Given the description of an element on the screen output the (x, y) to click on. 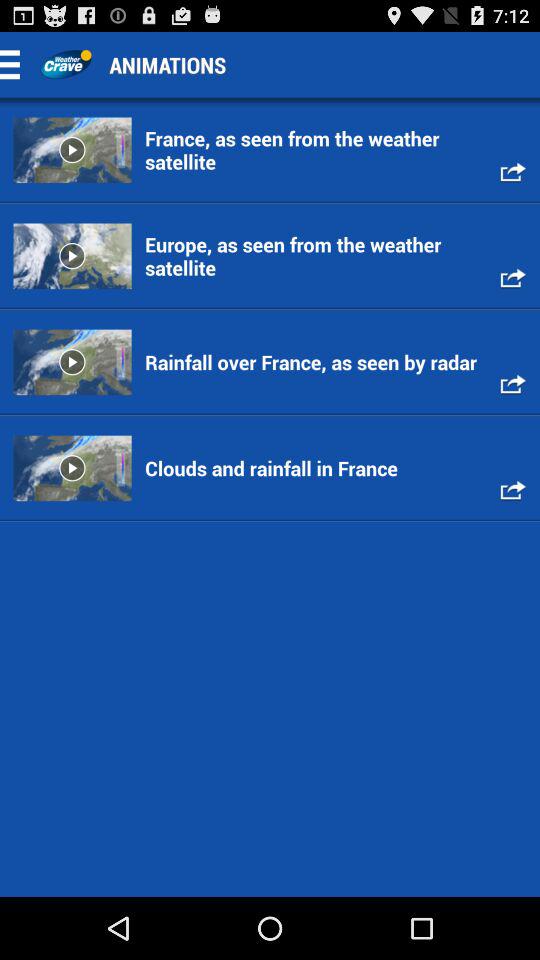
go to home page (65, 64)
